Given the description of an element on the screen output the (x, y) to click on. 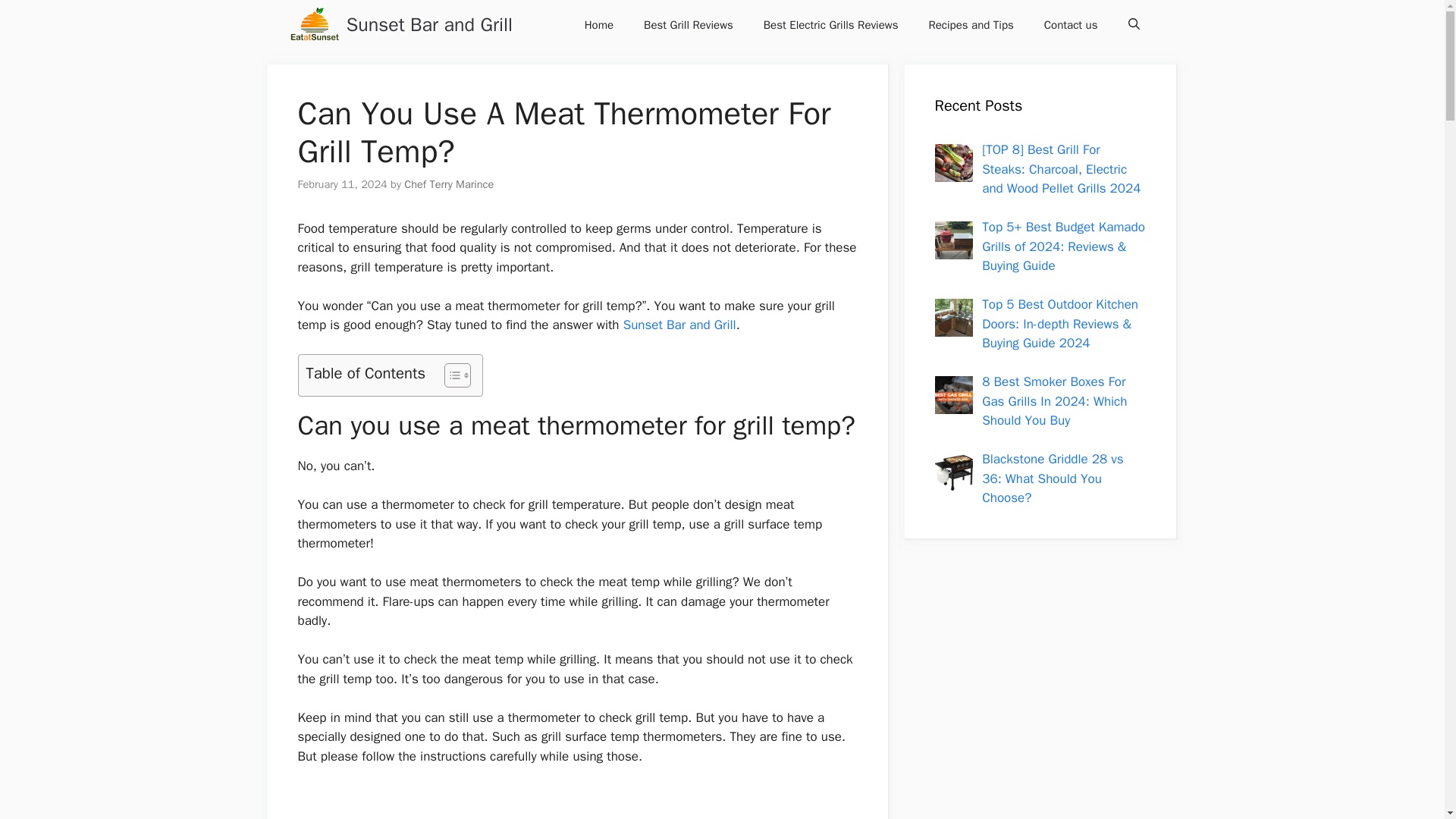
Recipes and Tips (969, 23)
Sunset Bar and Grill (679, 324)
View all posts by Chef Terry Marince (448, 183)
Contact us (1071, 23)
Sunset Bar and Grill (313, 24)
Chef Terry Marince (448, 183)
Sunset Bar and Grill (429, 24)
Home (598, 23)
Blackstone Griddle 28 vs 36: What Should You Choose? (1051, 478)
Best Grill Reviews (688, 23)
Best Electric Grills Reviews (831, 23)
